Given the description of an element on the screen output the (x, y) to click on. 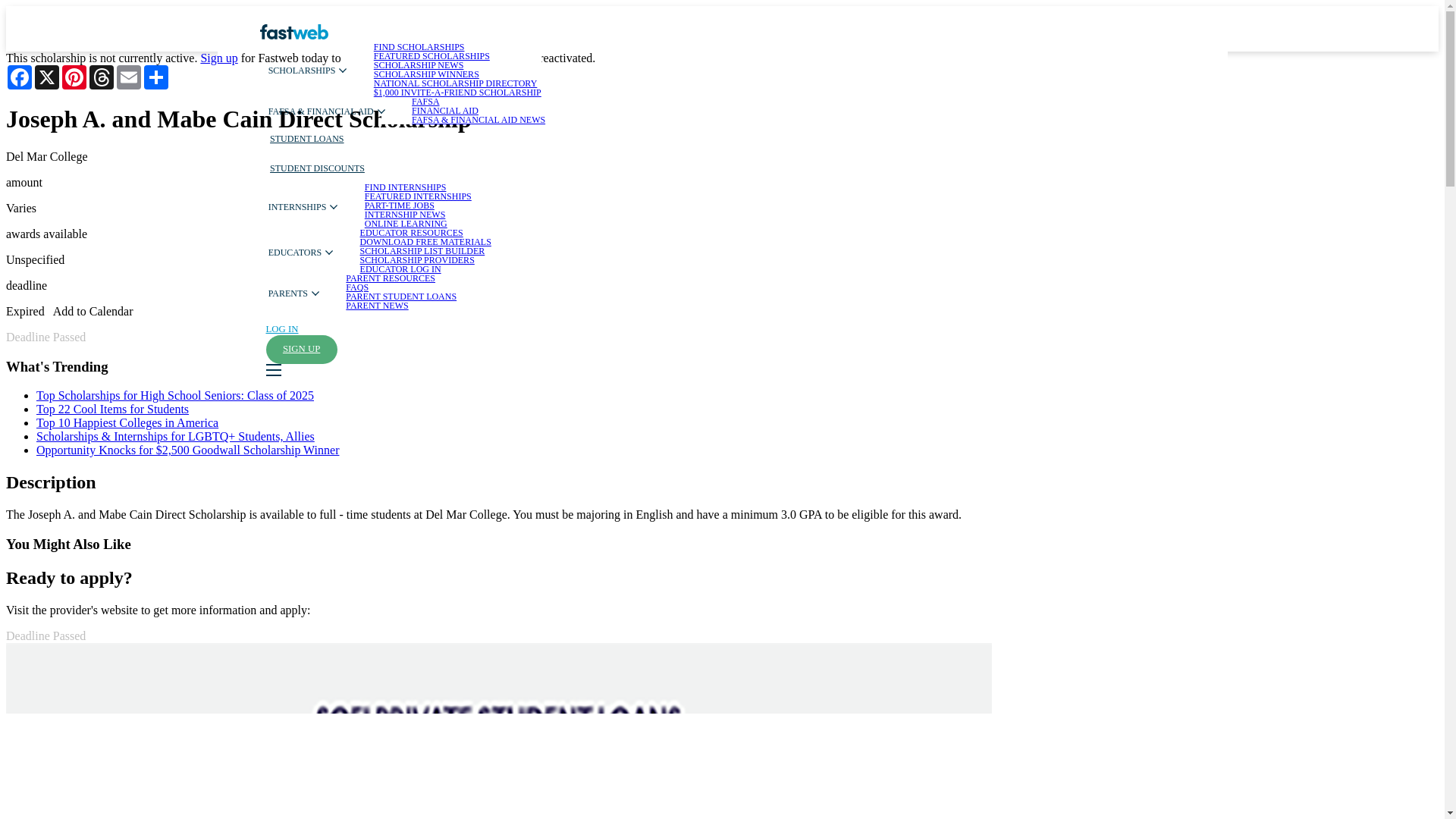
FIND SCHOLARSHIPS (419, 46)
FEATURED INTERNSHIPS (418, 195)
SCHOLARSHIP WINNERS (426, 73)
FAQS (357, 286)
NATIONAL SCHOLARSHIP DIRECTORY (455, 82)
SCHOLARSHIP PROVIDERS (416, 259)
SCHOLARSHIP NEWS (419, 64)
LOG IN (281, 328)
STUDENT LOANS (306, 138)
STUDENT DISCOUNTS (317, 167)
